Given the description of an element on the screen output the (x, y) to click on. 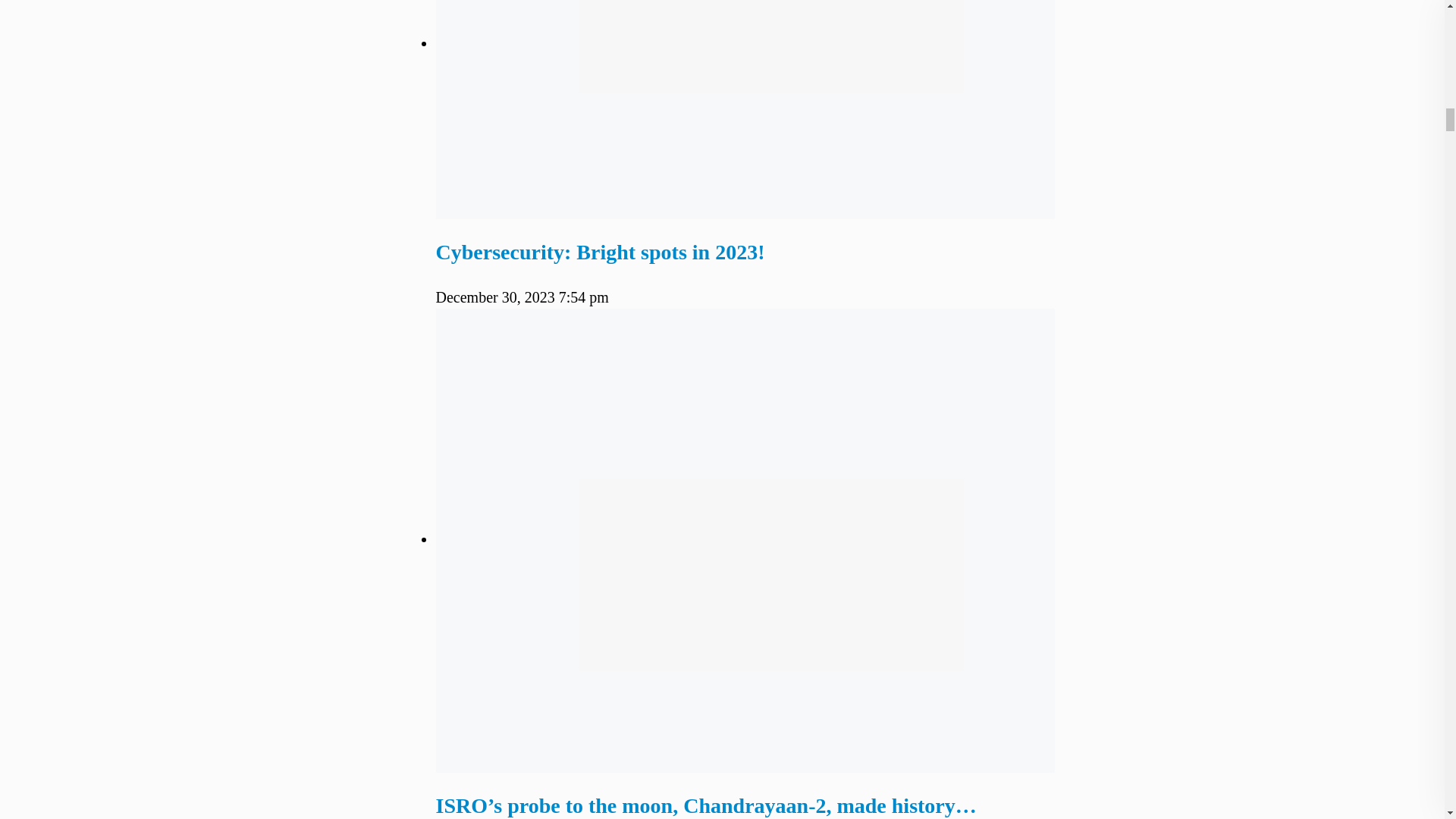
Cybersecurity: Bright spots in 2023! (599, 251)
